Given the description of an element on the screen output the (x, y) to click on. 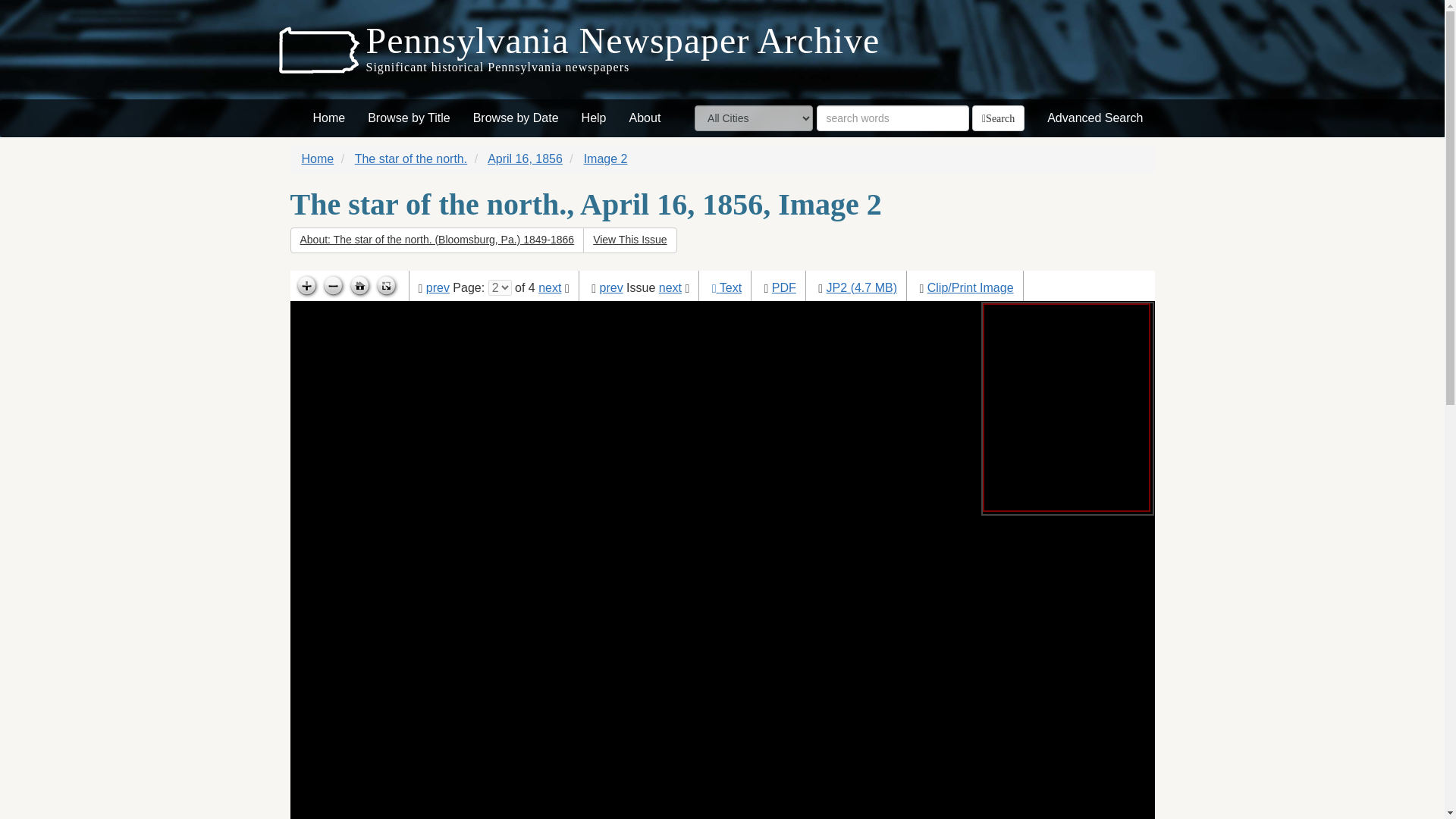
Browse by Title (408, 118)
Browse by Date (515, 118)
Image 2 (605, 158)
Zoom out (333, 286)
Search (998, 118)
Go home (359, 286)
PDF (783, 287)
The star of the north. (411, 158)
Advanced Search (1094, 118)
Home (328, 118)
View This Issue (630, 240)
Home (317, 158)
next (670, 287)
April 16, 1856 (524, 158)
Text (730, 287)
